Given the description of an element on the screen output the (x, y) to click on. 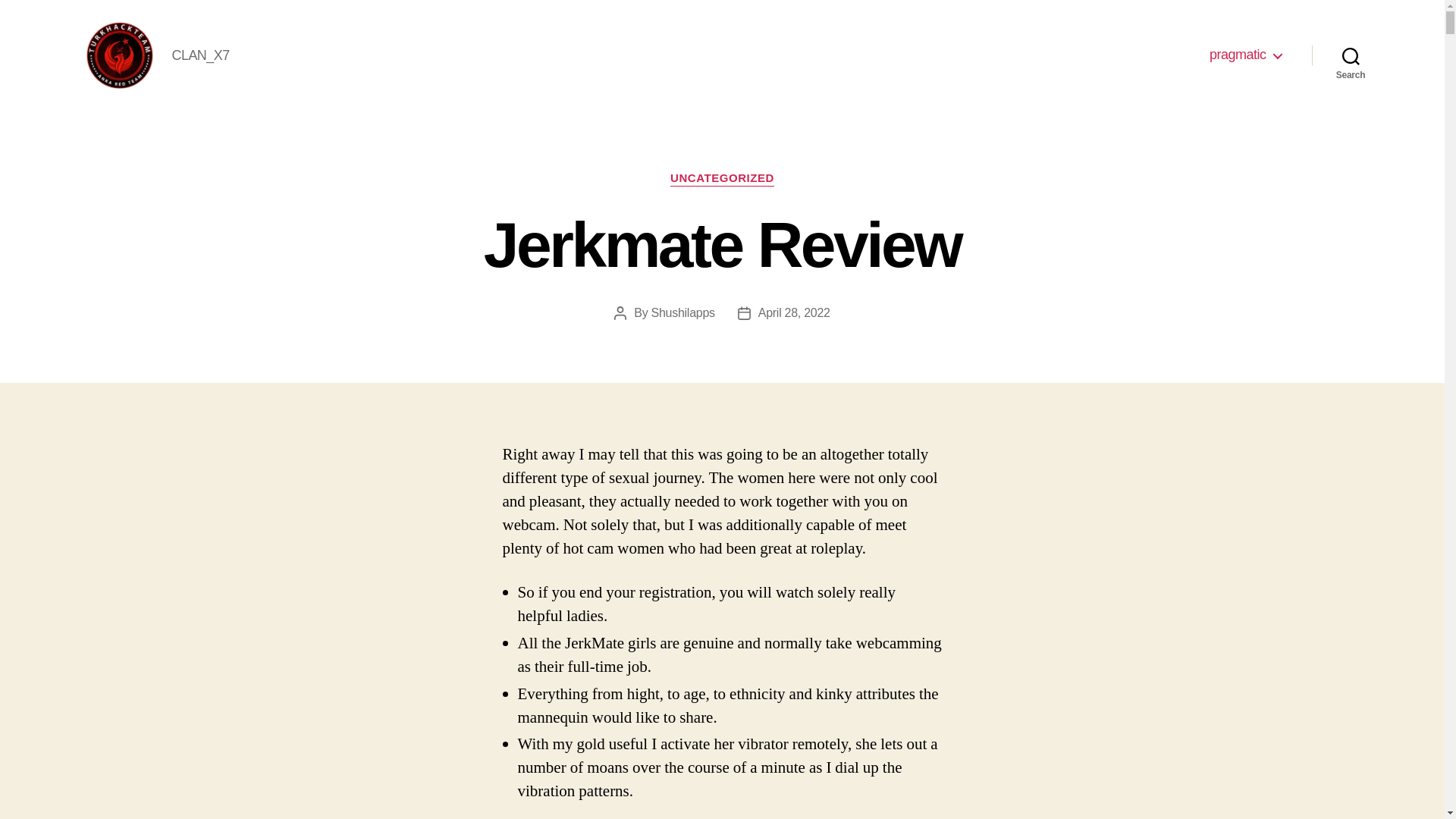
pragmatic (1245, 54)
April 28, 2022 (793, 312)
UNCATEGORIZED (721, 178)
Shushilapps (682, 312)
Search (1350, 55)
